Given the description of an element on the screen output the (x, y) to click on. 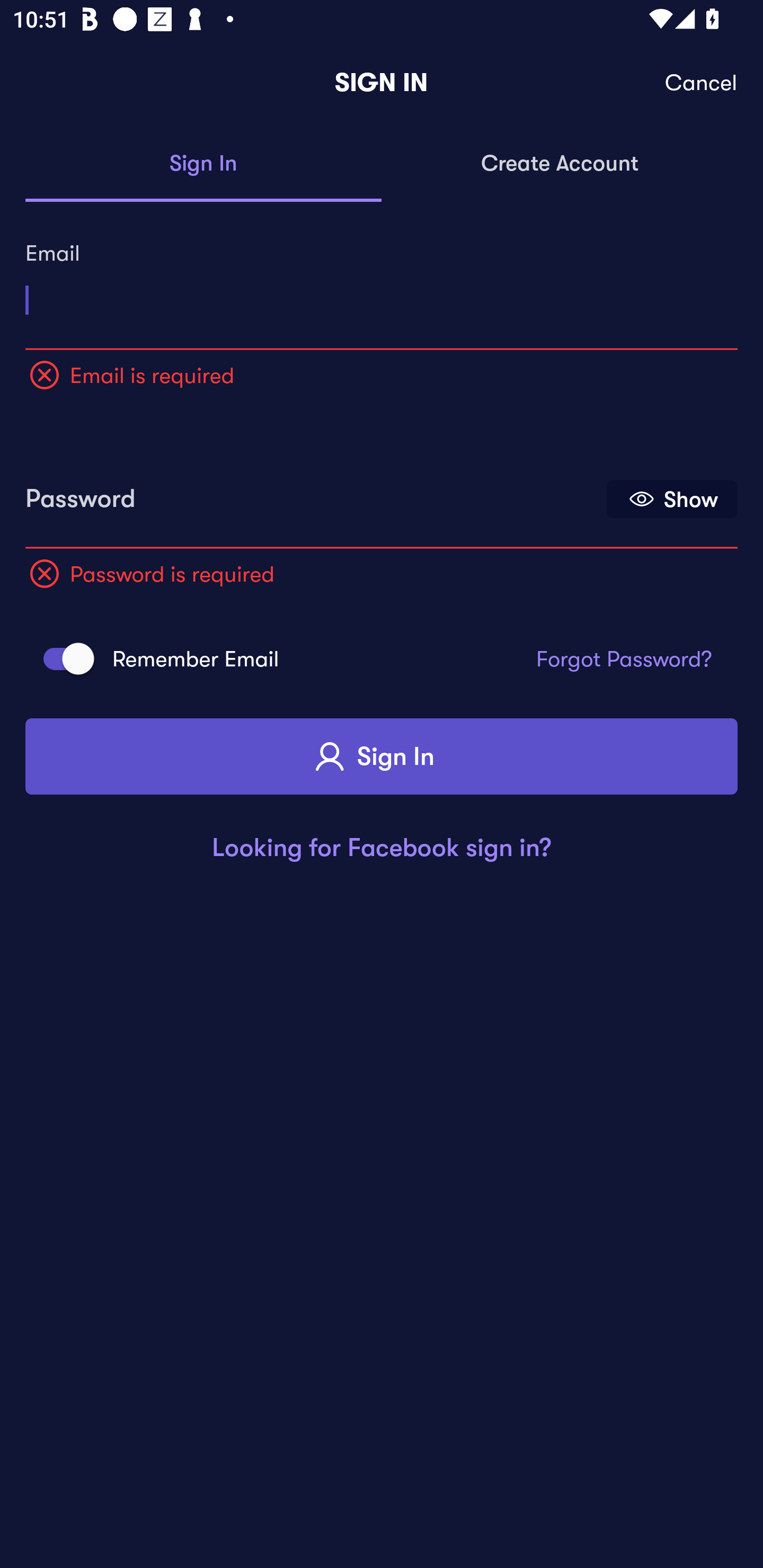
Cancel (701, 82)
Sign In (203, 164)
Create Account (559, 164)
Email, error message, Email is required (381, 293)
Password, error message, Password is required (314, 493)
Show Password Show (671, 498)
Remember Email (62, 658)
Sign In (381, 756)
